Given the description of an element on the screen output the (x, y) to click on. 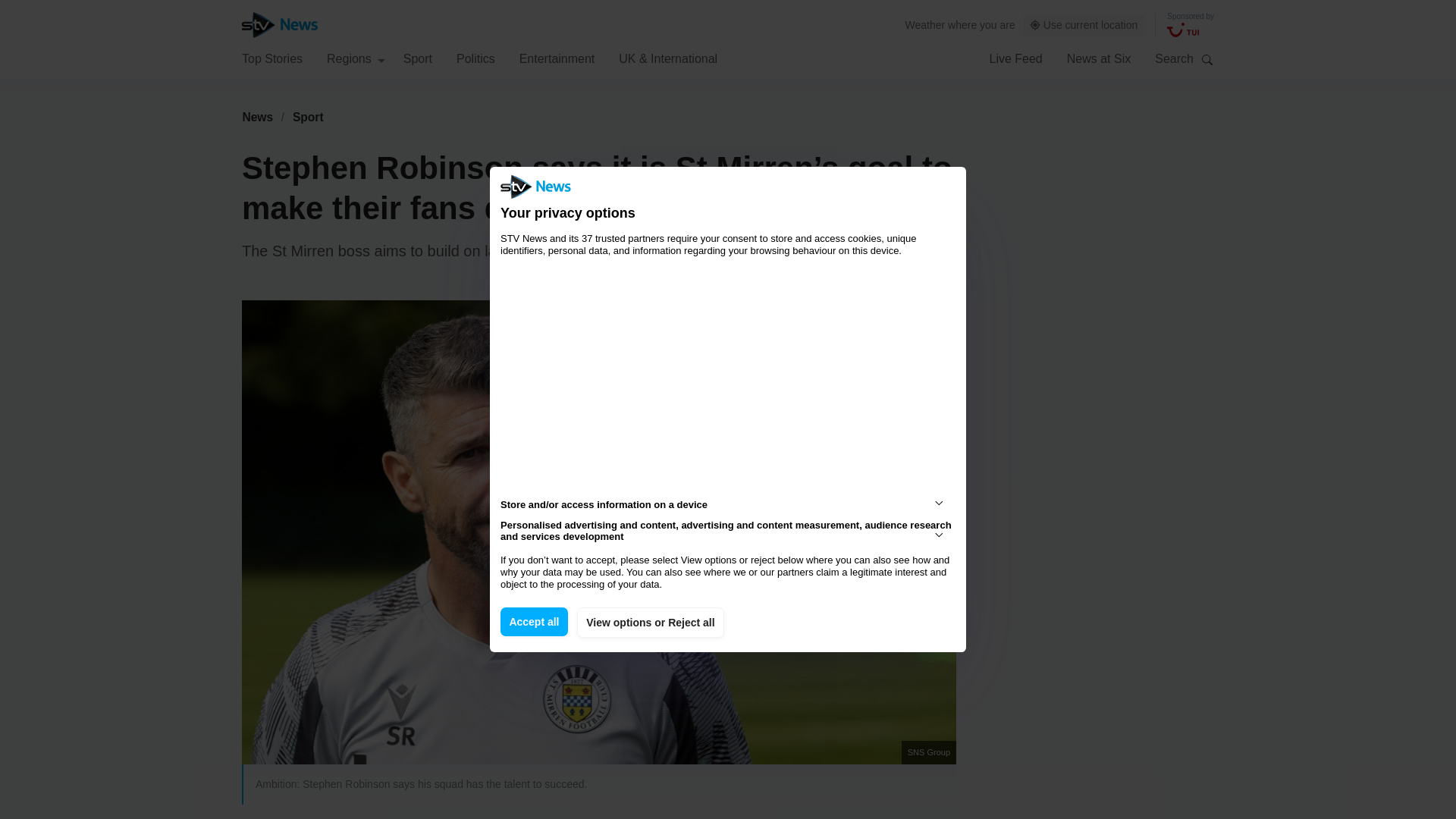
Weather (924, 24)
Use current location (1083, 25)
Regions (355, 57)
Live Feed (1015, 57)
Politics (476, 57)
Search (1206, 59)
Entertainment (557, 57)
Sport (308, 116)
News at Six (1099, 57)
News (257, 116)
Top Stories (271, 57)
